Given the description of an element on the screen output the (x, y) to click on. 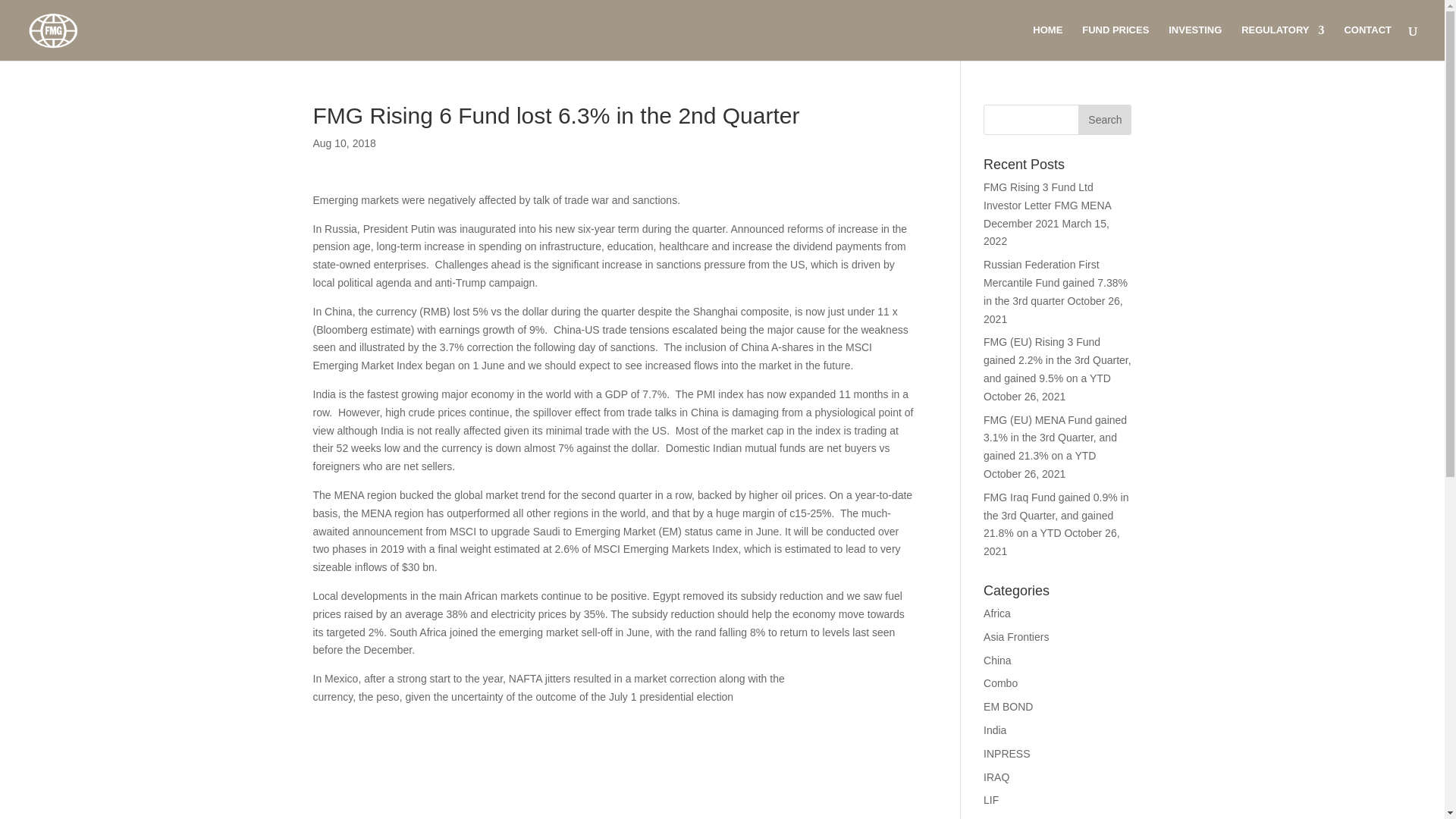
Combo (1000, 683)
Africa (997, 613)
INVESTING (1195, 42)
INPRESS (1006, 753)
Search (1104, 119)
IRAQ (996, 776)
EM BOND (1008, 706)
INVESTING (1195, 42)
FMG Rising 3 Fund Ltd Investor Letter FMG MENA December 2021 (1047, 205)
